Given the description of an element on the screen output the (x, y) to click on. 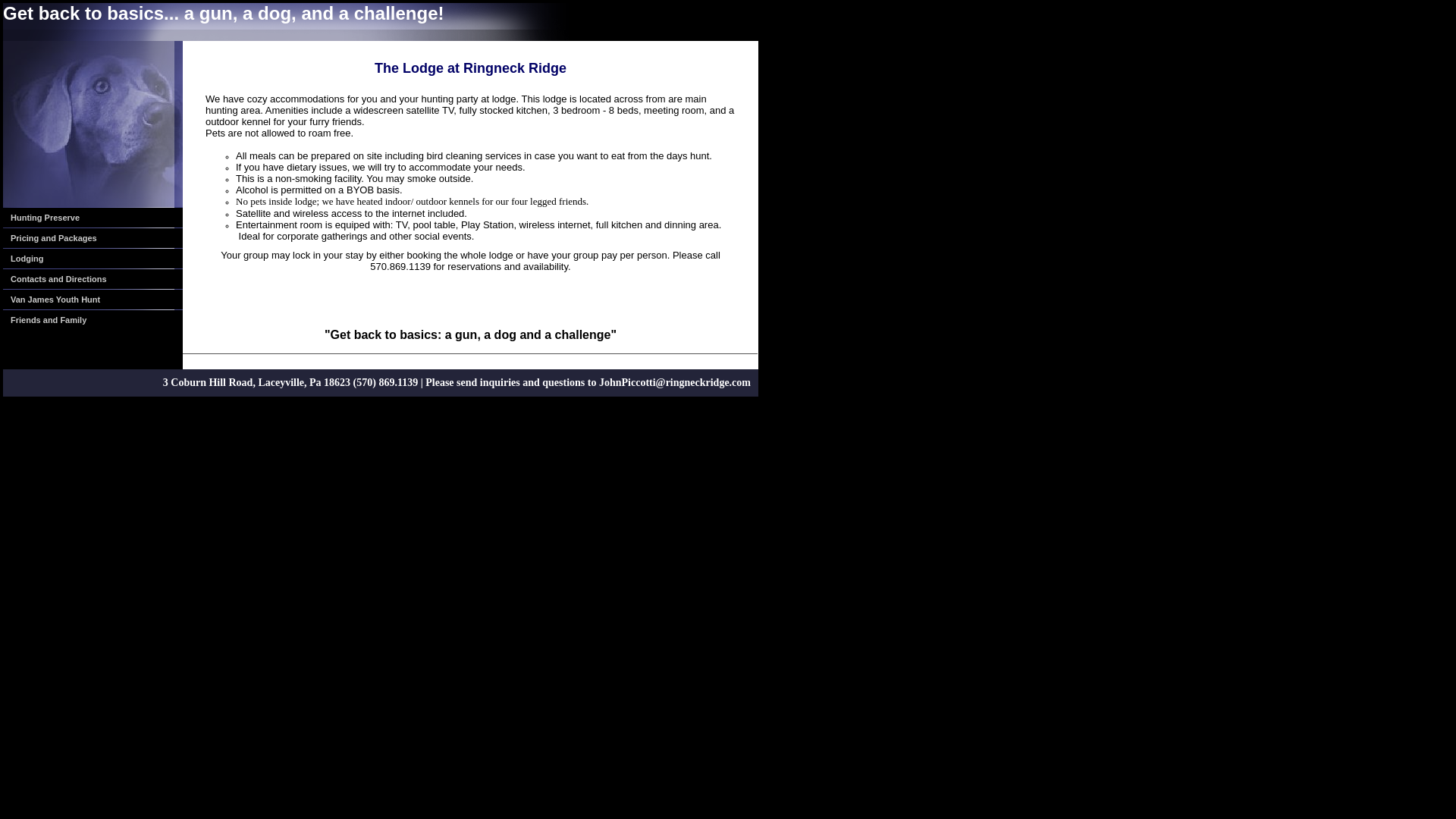
Lodging (92, 258)
Van James Youth Hunt (92, 299)
Pricing and Packages (92, 238)
Contacts and Directions (92, 279)
Hunting Preserve (92, 217)
Friends and Family (92, 320)
